Given the description of an element on the screen output the (x, y) to click on. 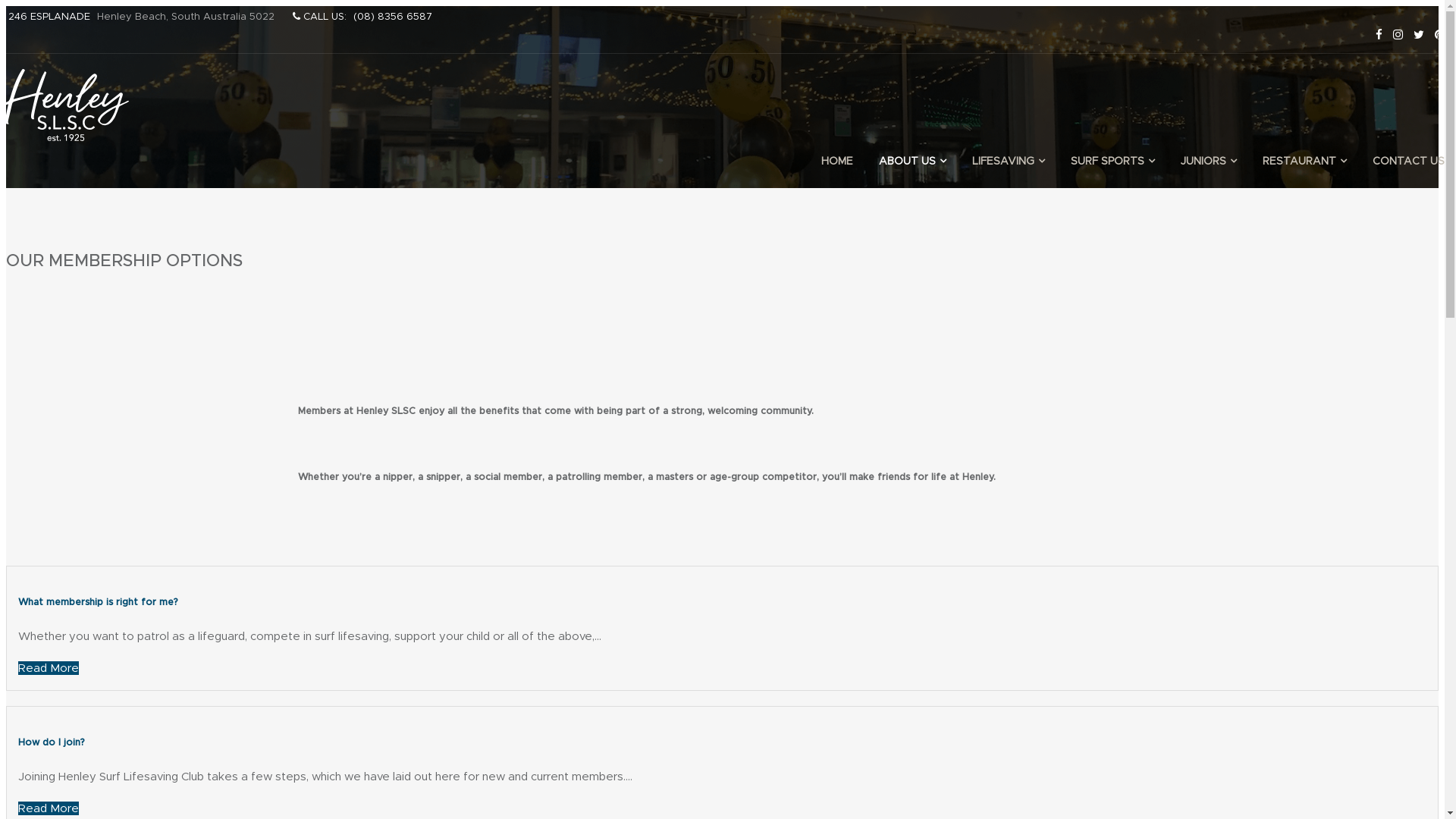
(08) 8356 6587 Element type: text (392, 15)
What membership is right for me? Element type: text (98, 601)
CONTACT US Element type: text (1402, 160)
ABOUT US Element type: text (912, 160)
LIFESAVING Element type: text (1008, 160)
Read More Element type: text (48, 808)
JUNIORS Element type: text (1208, 160)
RESTAURANT Element type: text (1304, 160)
Read More Element type: text (48, 667)
HOME Element type: text (836, 160)
SURF SPORTS Element type: text (1112, 160)
How do I join? Element type: text (51, 741)
